Given the description of an element on the screen output the (x, y) to click on. 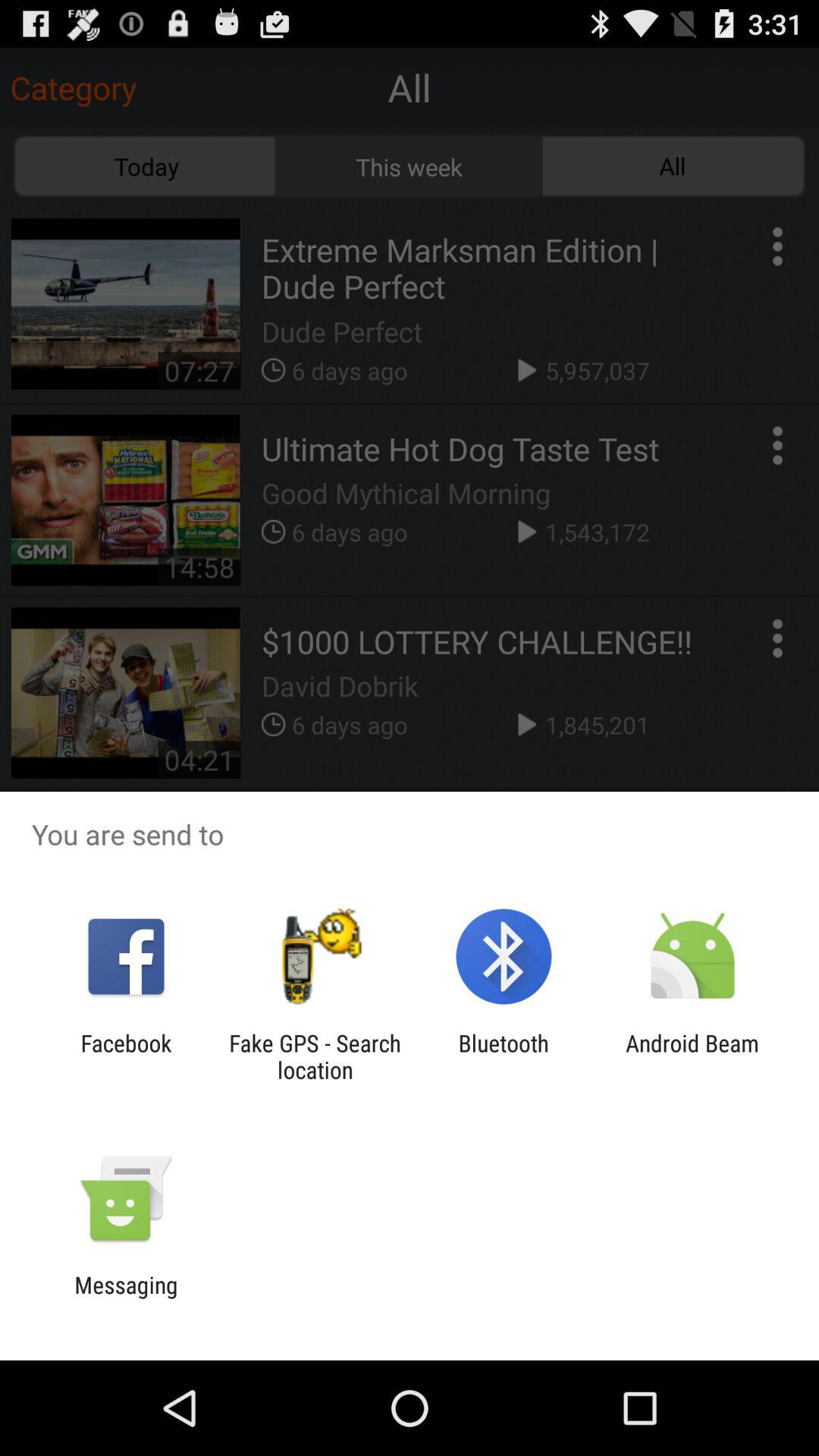
click messaging item (126, 1298)
